Given the description of an element on the screen output the (x, y) to click on. 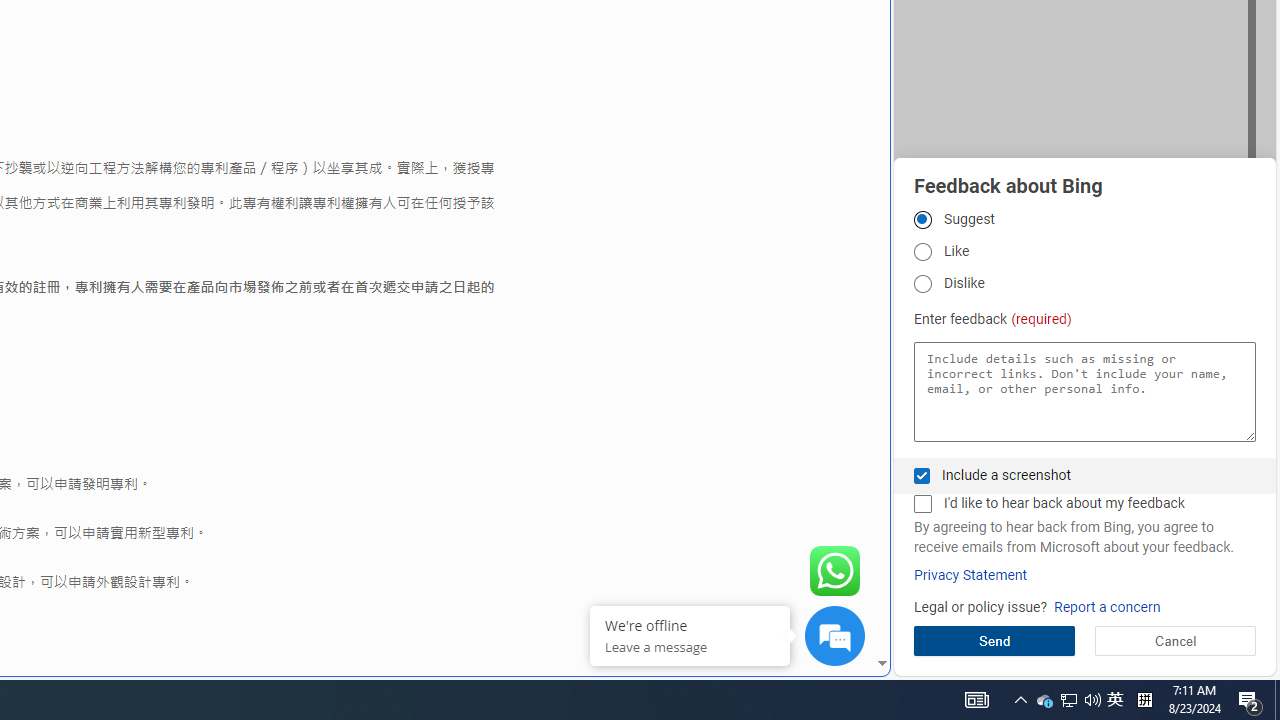
Send (994, 640)
Include a screenshot (921, 475)
MSN (687, 223)
Dislike (922, 284)
Privacy Statement (970, 575)
I'd like to hear back about my feedback (922, 503)
Cancel (1174, 640)
Report a concern (1106, 607)
google_privacy_policy_zh-CN.pdf (687, 482)
Suggest (922, 219)
Like (922, 251)
